Given the description of an element on the screen output the (x, y) to click on. 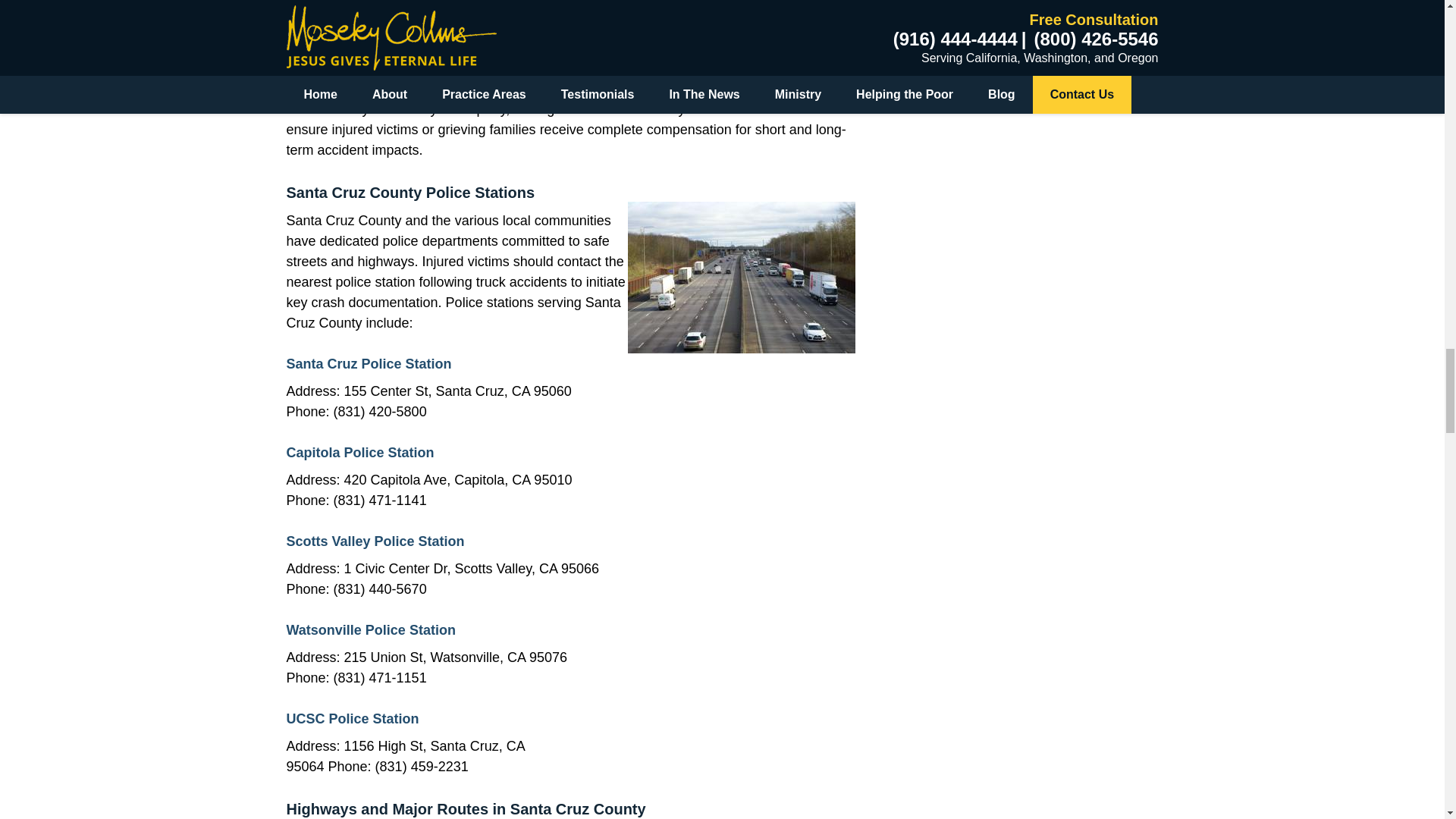
UCSC Police Station (352, 718)
Santa Cruz Police Station (368, 363)
Scotts Valley Police Station (375, 540)
Capitola Police Station (359, 452)
Watsonville Police Station (370, 630)
